Given the description of an element on the screen output the (x, y) to click on. 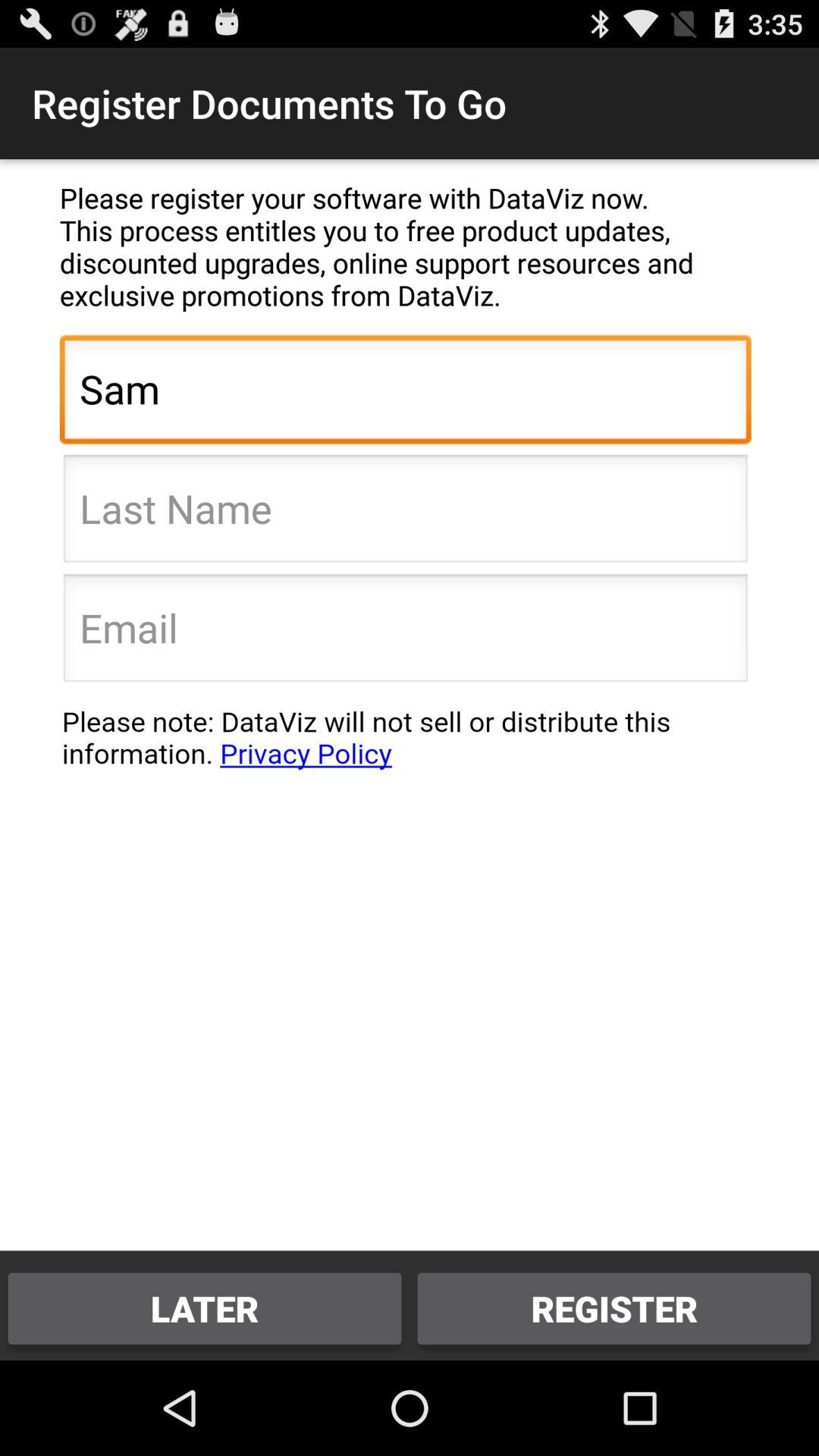
enter last name (405, 512)
